Given the description of an element on the screen output the (x, y) to click on. 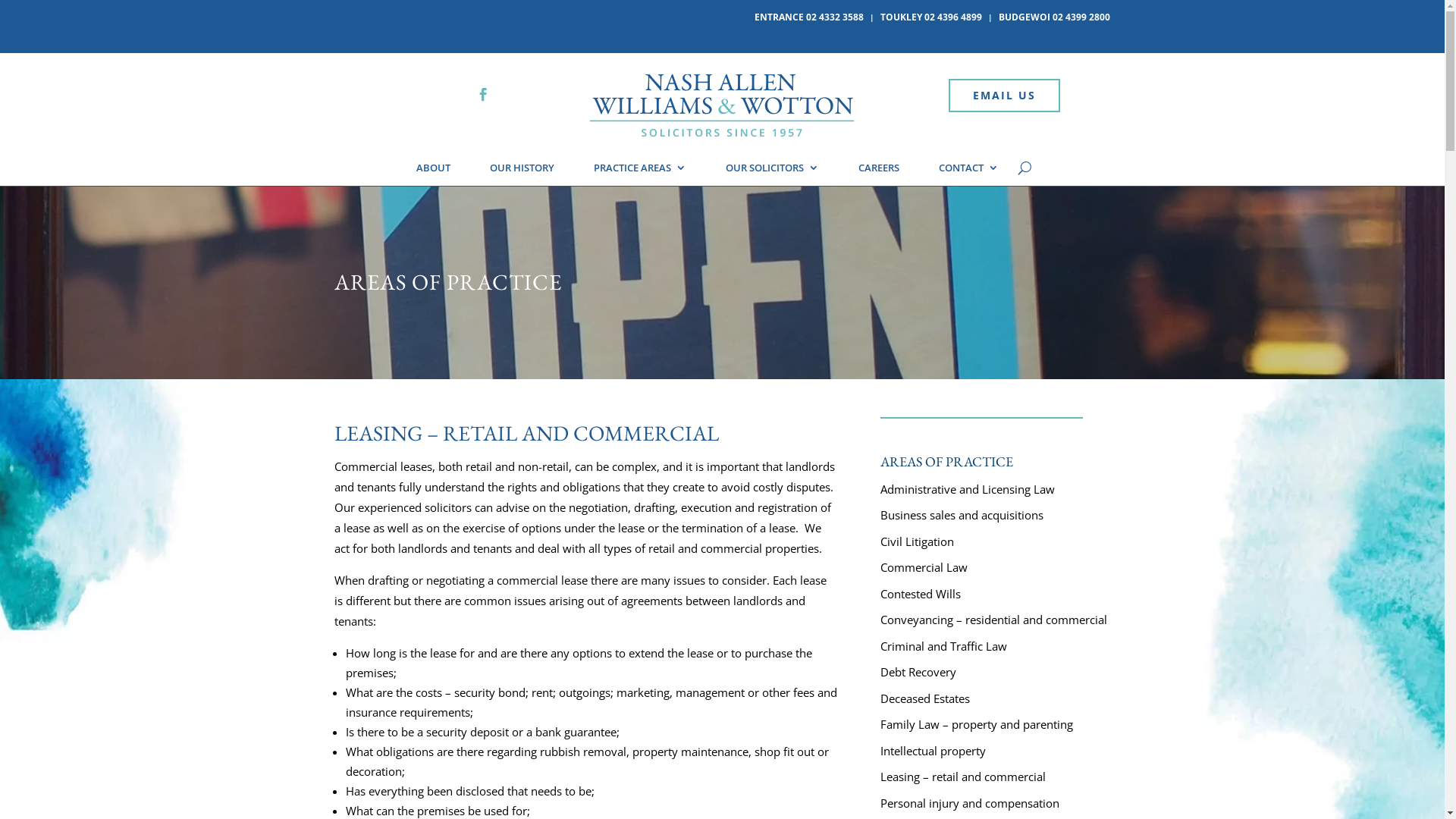
OUR HISTORY Element type: text (521, 170)
ABOUT Element type: text (433, 170)
Personal injury and compensation Element type: text (969, 802)
Business sales and acquisitions Element type: text (961, 514)
Follow on Facebook Element type: hover (482, 94)
CAREERS Element type: text (878, 170)
Debt Recovery Element type: text (918, 671)
Intellectual property Element type: text (932, 750)
Contested Wills Element type: text (920, 593)
OUR SOLICITORS Element type: text (772, 170)
CONTACT Element type: text (968, 170)
BUDGEWOI 02 4399 2800 Element type: text (1054, 20)
Administrative and Licensing Law Element type: text (967, 488)
EMAIL US Element type: text (1004, 95)
Civil Litigation Element type: text (916, 541)
Commercial Law Element type: text (923, 566)
ENTRANCE 02 4332 3588 Element type: text (808, 20)
Deceased Estates Element type: text (924, 698)
Criminal and Traffic Law Element type: text (943, 645)
TOUKLEY 02 4396 4899 Element type: text (931, 20)
PRACTICE AREAS Element type: text (639, 170)
Nash Allen Williams & Wotton Element type: hover (721, 106)
